Given the description of an element on the screen output the (x, y) to click on. 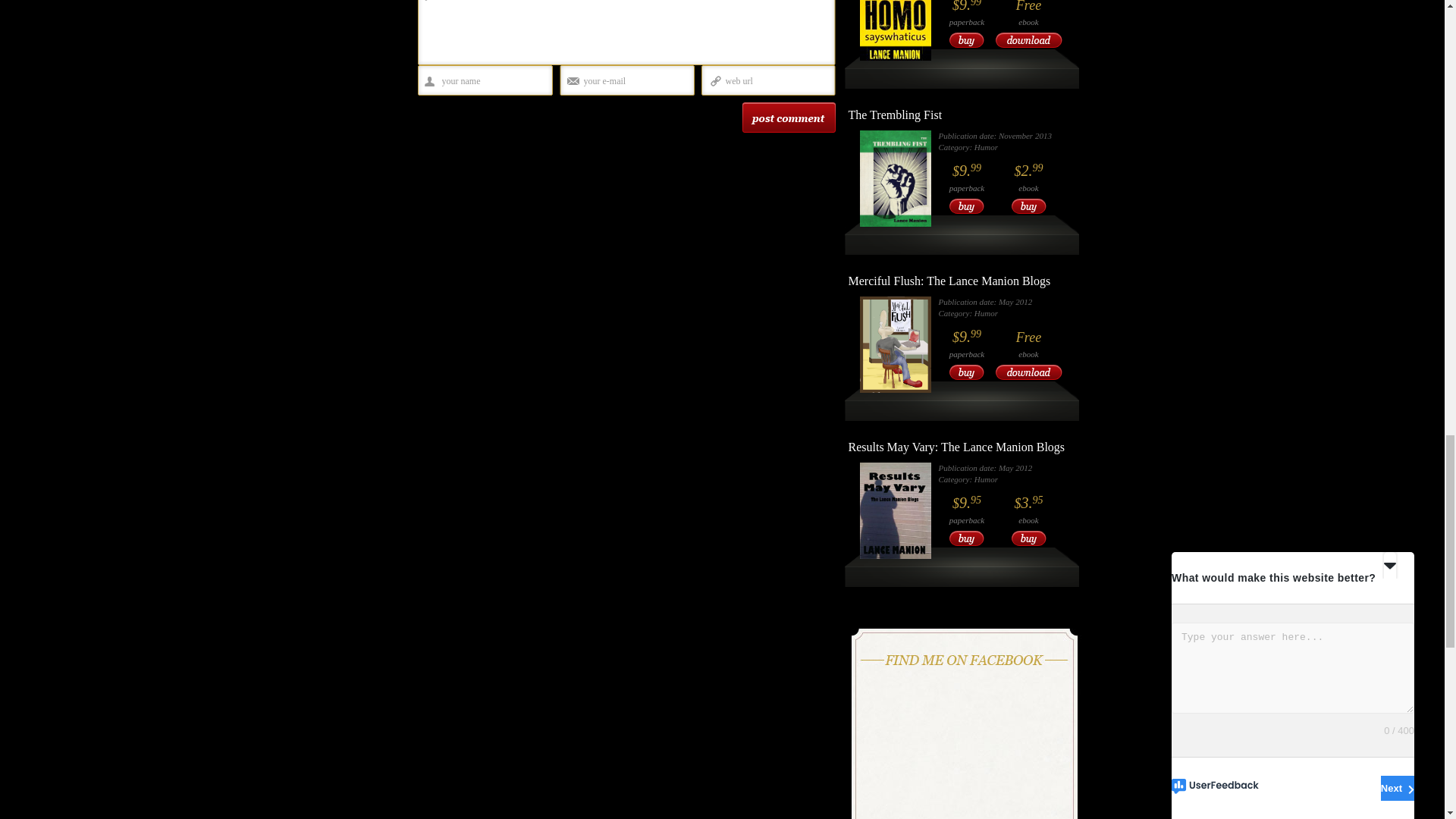
Post Comment (787, 117)
your name (490, 81)
your e-mail (633, 81)
web url (774, 81)
